Given the description of an element on the screen output the (x, y) to click on. 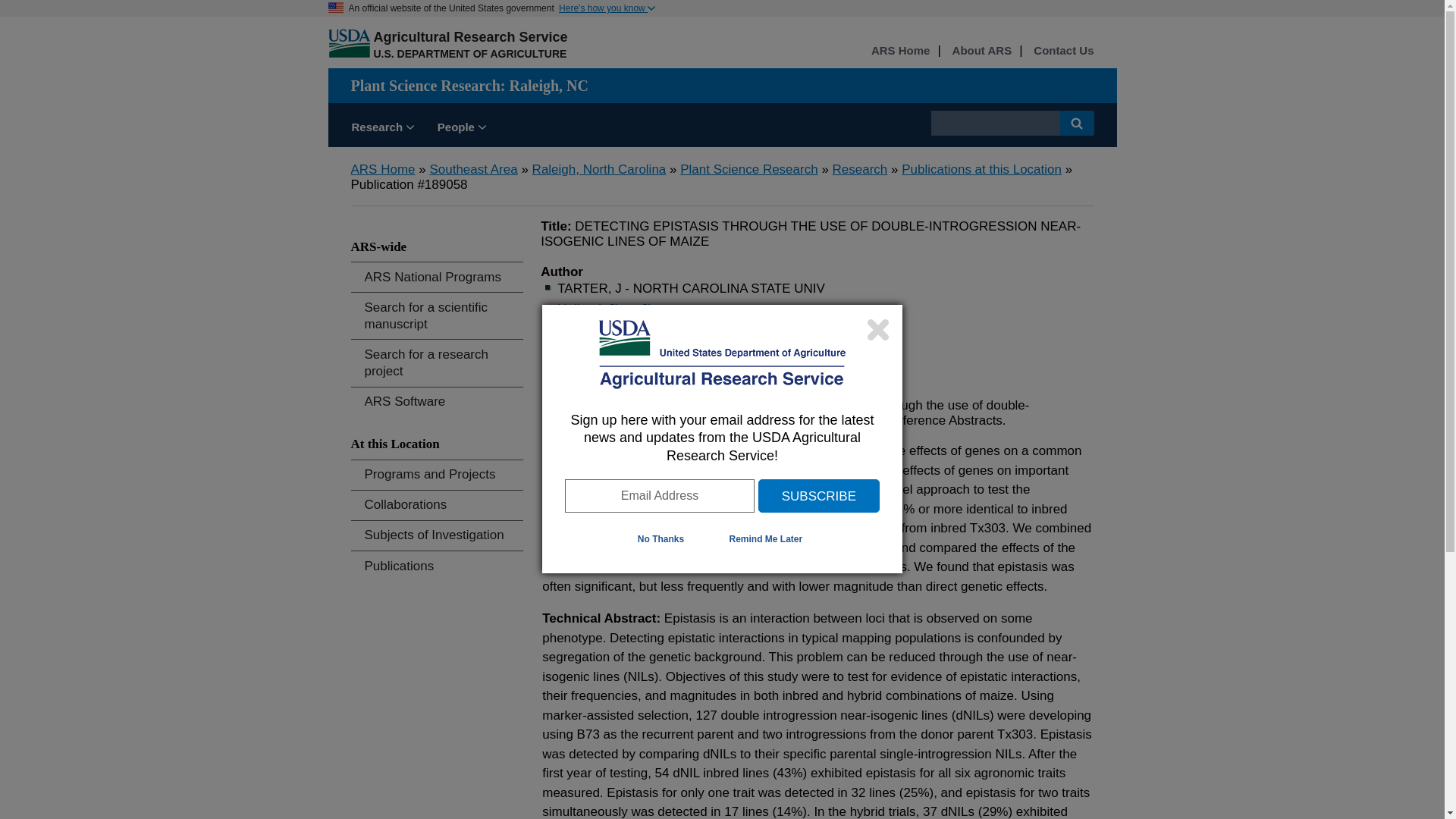
ARS Software (436, 401)
search (995, 122)
Subscribe (818, 495)
About ARS (981, 50)
Agricultural Research Service (469, 37)
People (461, 128)
Search for a research project (436, 362)
Raleigh, North Carolina (599, 169)
Publications at this Location (981, 169)
U.S. DEPARTMENT OF AGRICULTURE Home (469, 53)
Contact Us (1063, 50)
Close subscription dialog (877, 328)
Programs and Projects (436, 474)
Collaborations (436, 505)
Holland, Jim - Jim (608, 309)
